Given the description of an element on the screen output the (x, y) to click on. 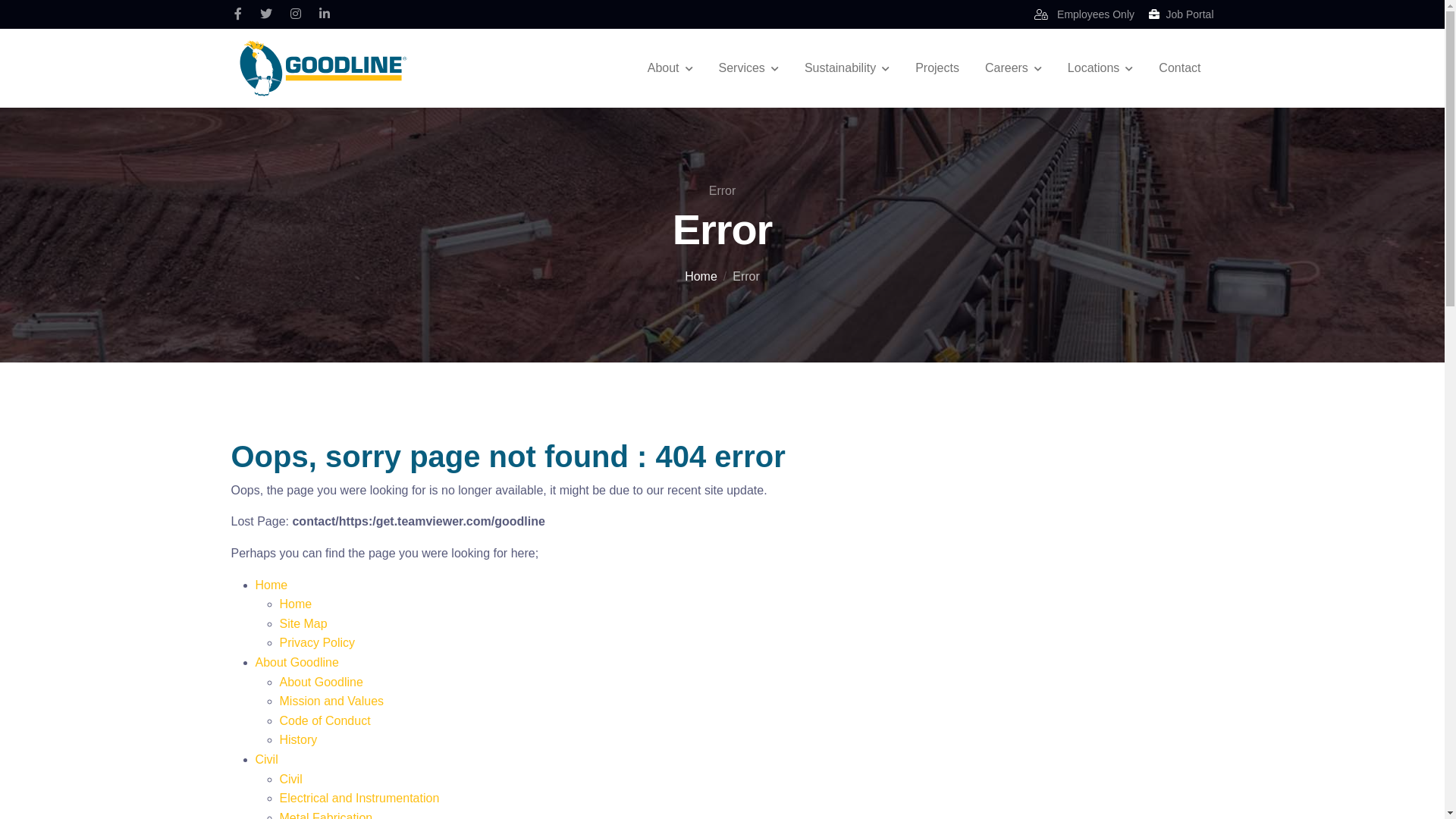
Careers Element type: text (1013, 68)
Civil Element type: text (290, 778)
Sustainability Element type: text (846, 68)
History Element type: text (297, 739)
Home Element type: text (270, 584)
About Goodline Element type: text (320, 681)
About Element type: text (670, 68)
Privacy Policy Element type: text (316, 642)
Services Element type: text (748, 68)
Projects Element type: text (937, 68)
Mission and Values Element type: text (331, 700)
Home Element type: text (700, 275)
Goodline Element type: hover (321, 68)
Home Element type: text (295, 603)
About Goodline Element type: text (296, 661)
Site Map Element type: text (302, 623)
Employees Only Element type: text (1084, 14)
Electrical and Instrumentation Element type: text (359, 797)
Locations Element type: text (1100, 68)
Contact Element type: text (1179, 68)
Code of Conduct Element type: text (324, 720)
Civil Element type: text (265, 759)
Job Portal Element type: text (1180, 14)
